Given the description of an element on the screen output the (x, y) to click on. 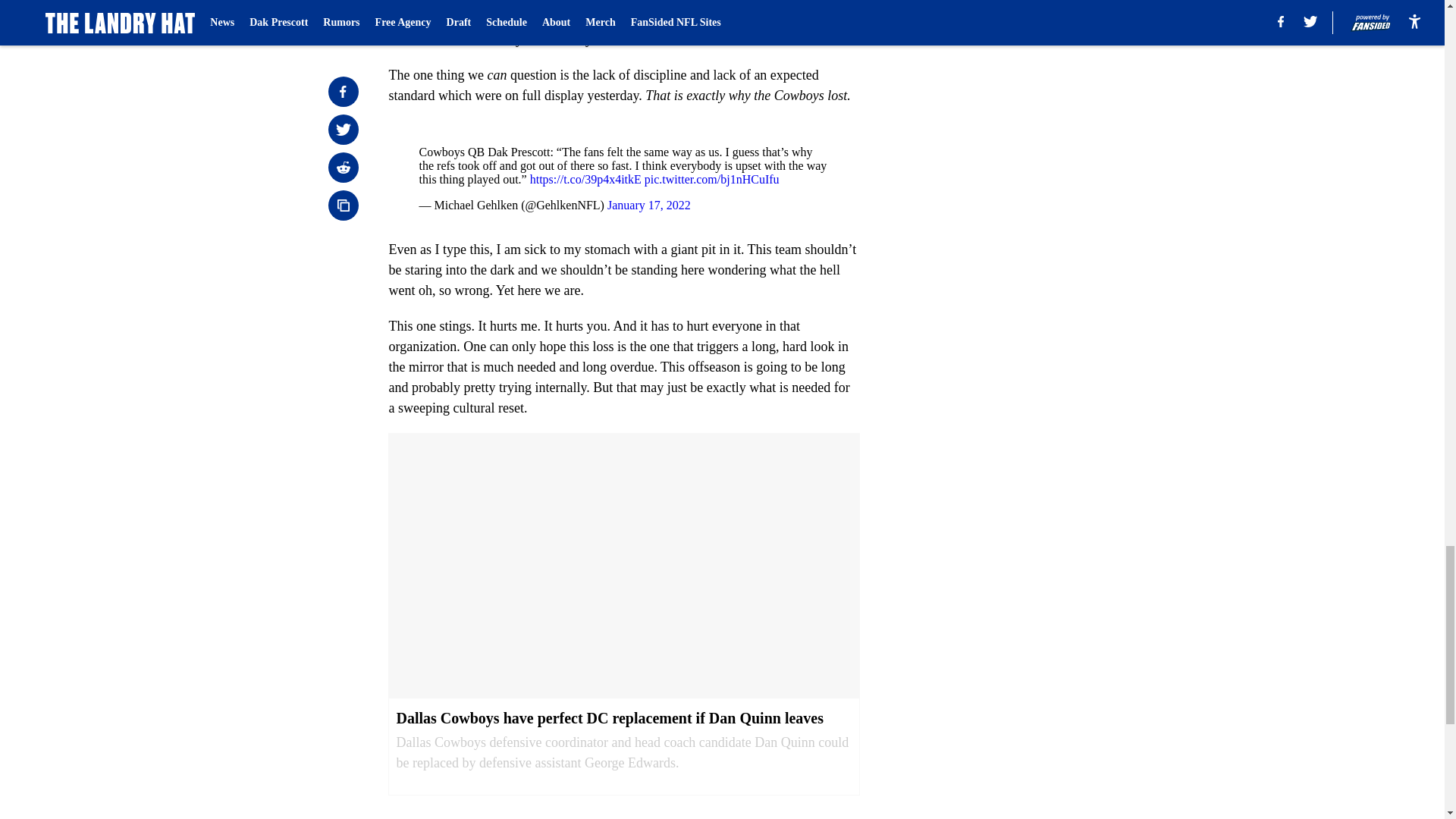
January 17, 2022 (648, 205)
